Given the description of an element on the screen output the (x, y) to click on. 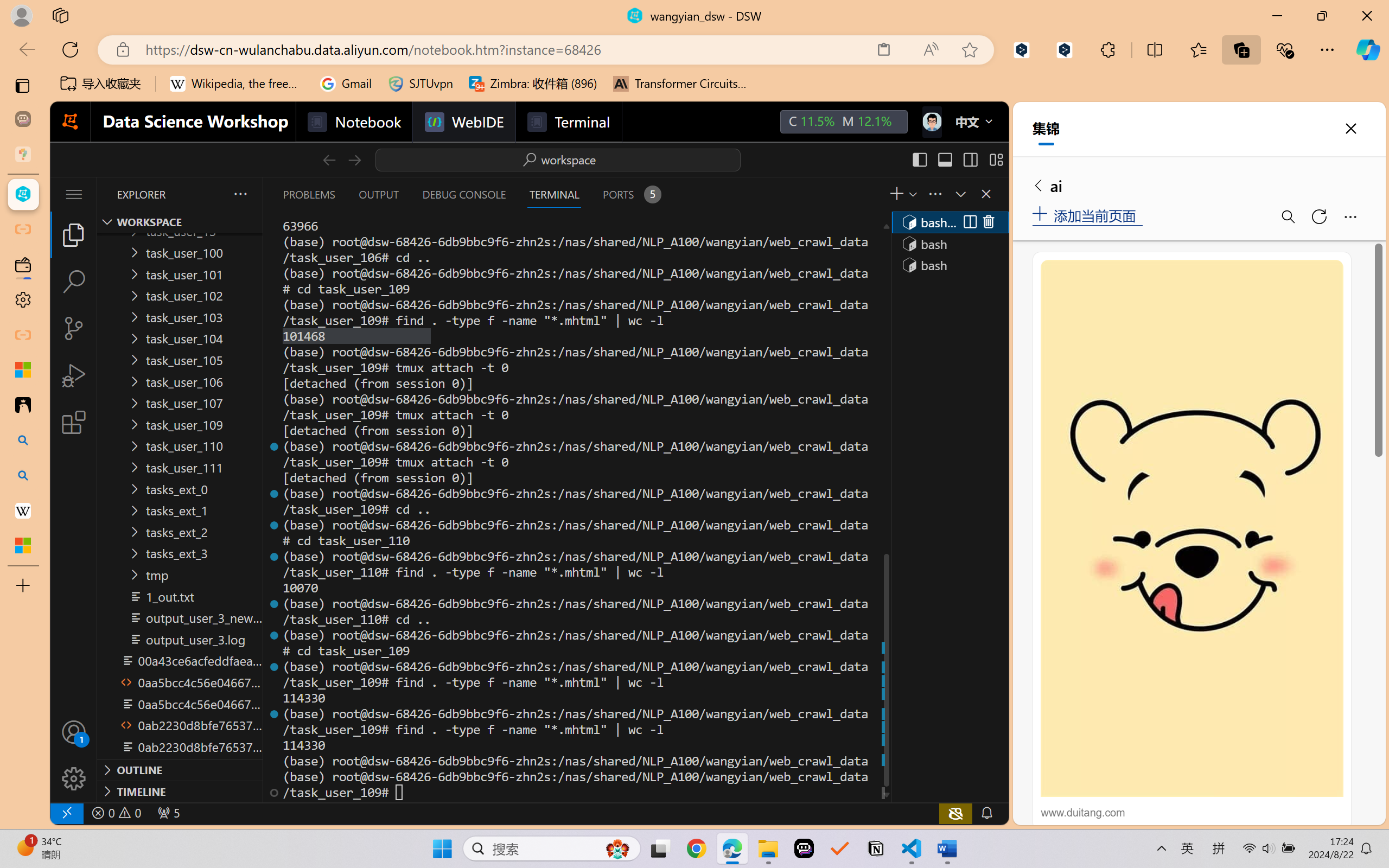
Menu On (1270, 837)
Slide Show Next On (1287, 837)
Czech (detected) (1256, 52)
